Given the description of an element on the screen output the (x, y) to click on. 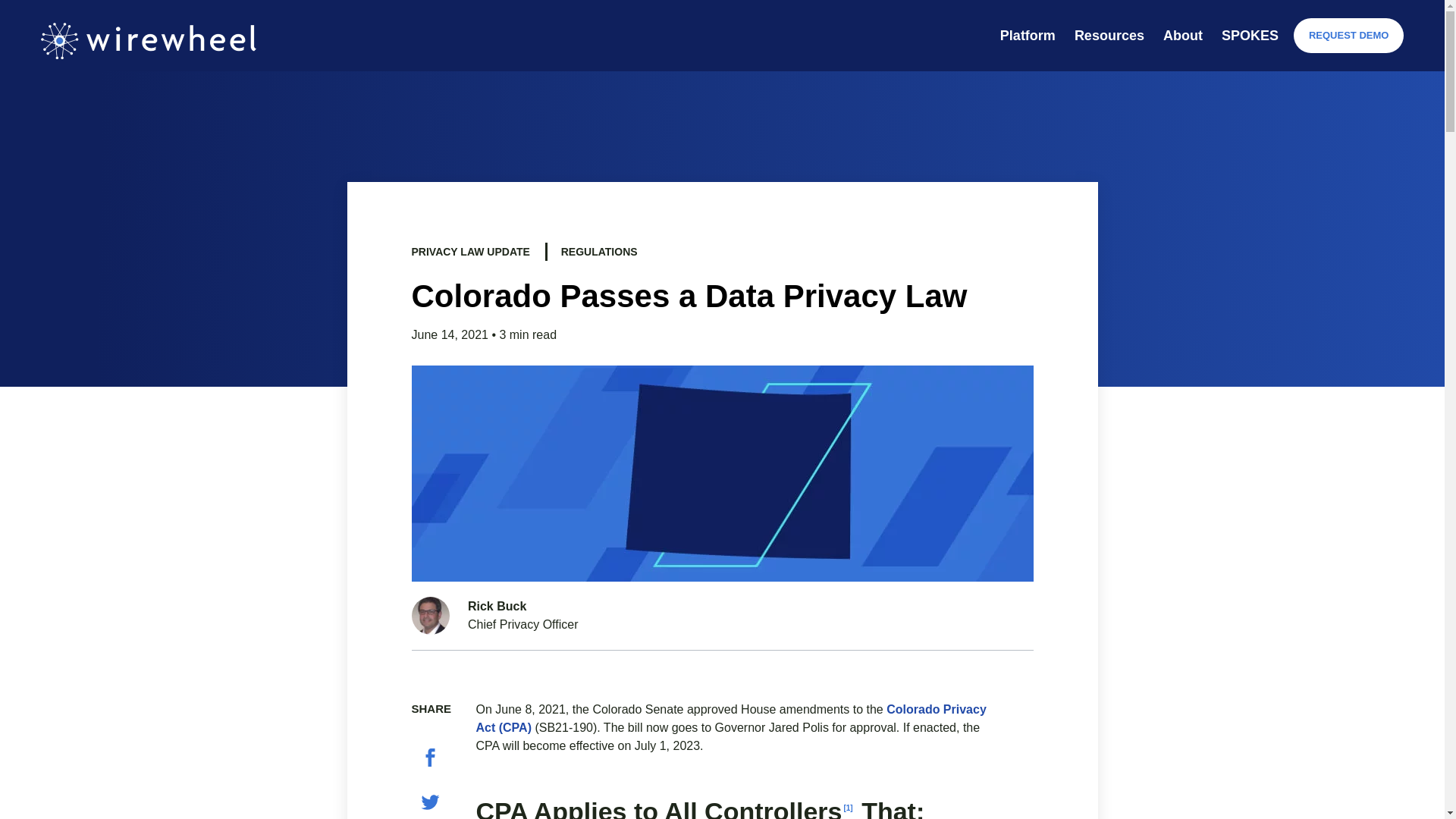
SPOKES (1249, 35)
Resources (1109, 35)
About (1182, 35)
Platform (1027, 35)
REQUEST DEMO (1348, 35)
